Given the description of an element on the screen output the (x, y) to click on. 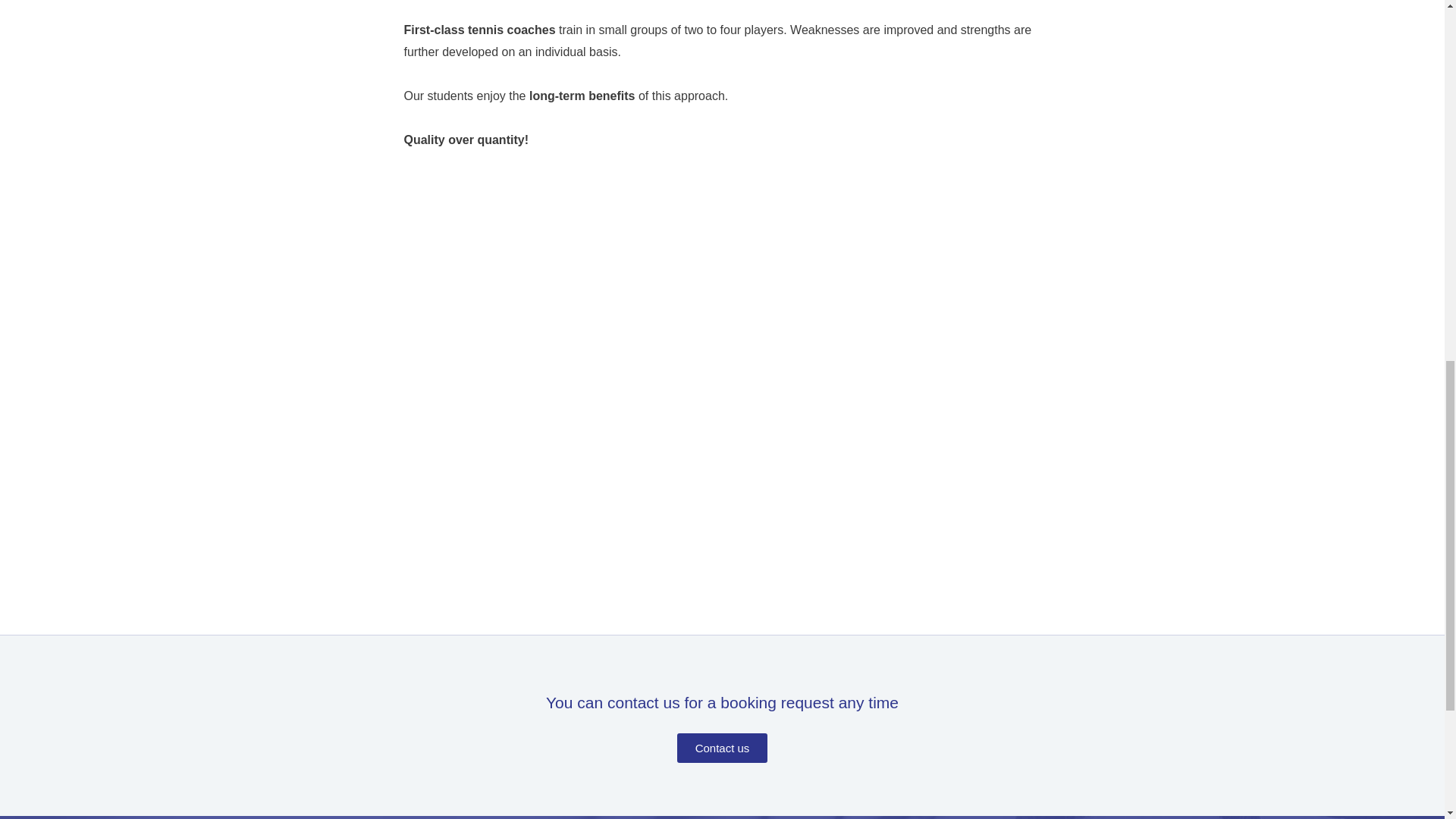
Contact us (722, 747)
